Given the description of an element on the screen output the (x, y) to click on. 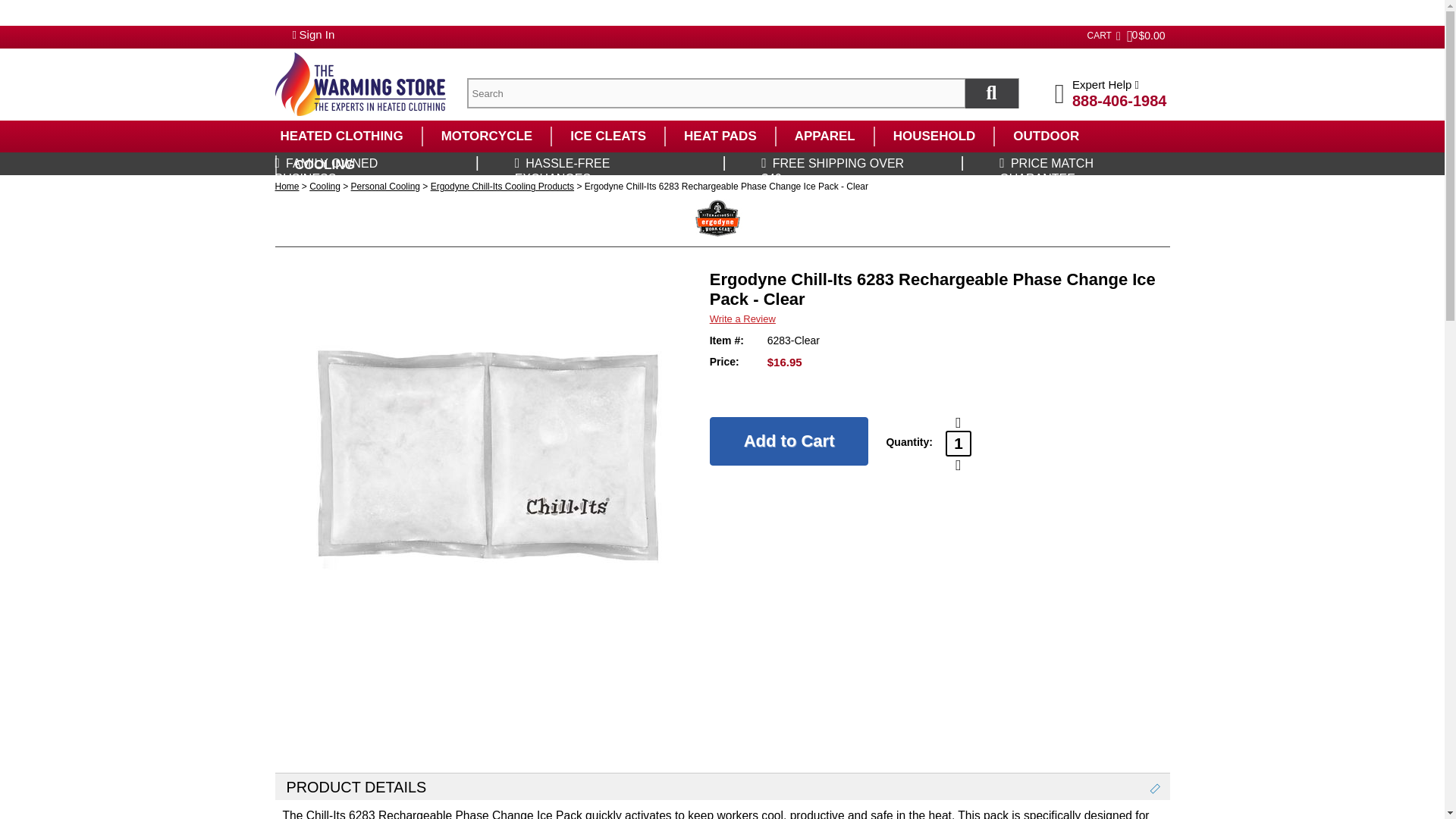
888-406-1984 (1119, 100)
1 (957, 443)
CART (1098, 35)
Add to Cart (789, 441)
HEATED CLOTHING (340, 137)
TheWarmingStore experts in heated clothing (360, 84)
Expert Help (1110, 83)
Sign In (316, 33)
